Given the description of an element on the screen output the (x, y) to click on. 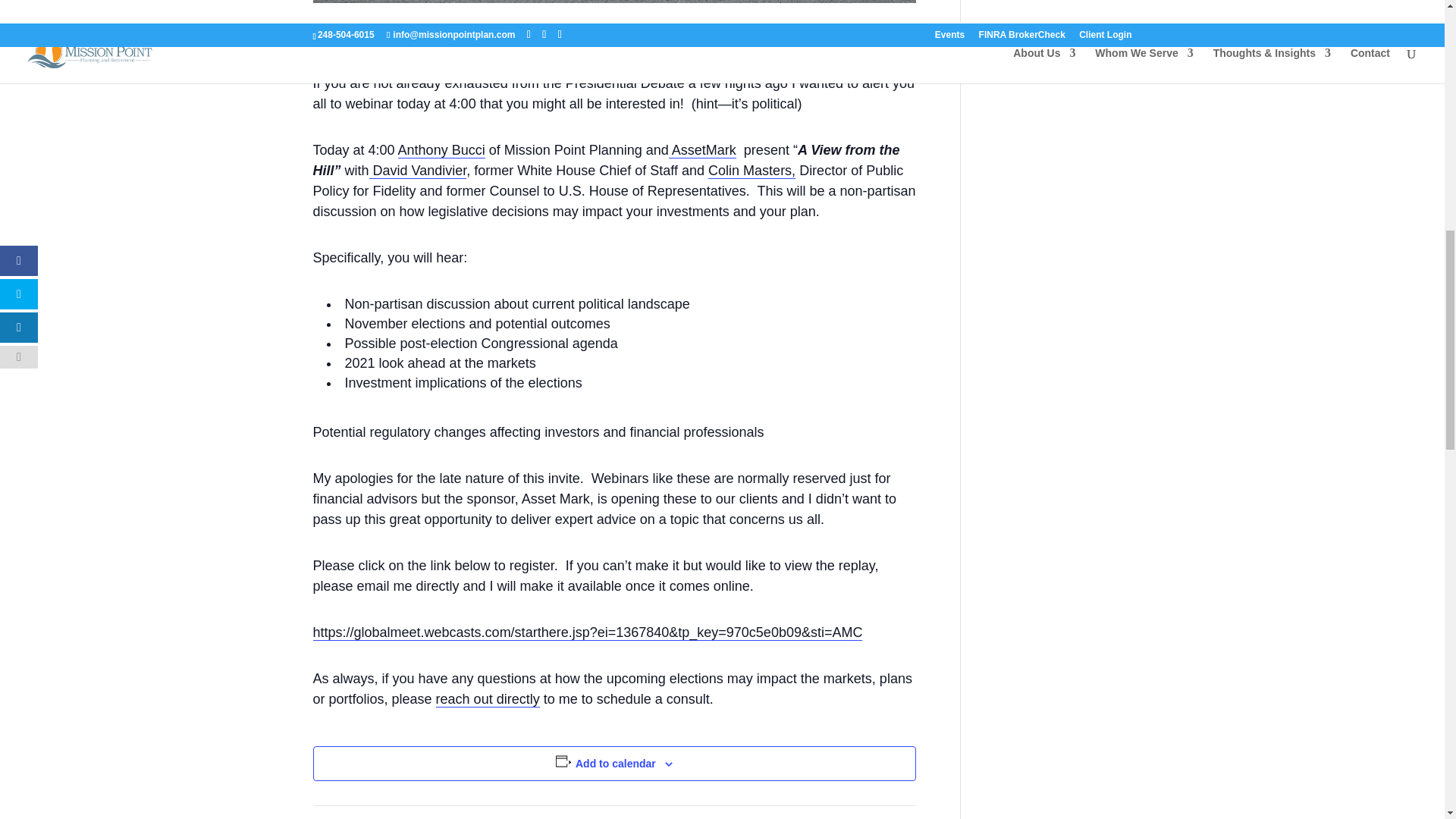
Colin Masters, (750, 170)
AssetMark (702, 150)
Anthony Bucci (440, 150)
Add to calendar (615, 762)
reach out directly (487, 699)
David Vandivier (418, 170)
